Given the description of an element on the screen output the (x, y) to click on. 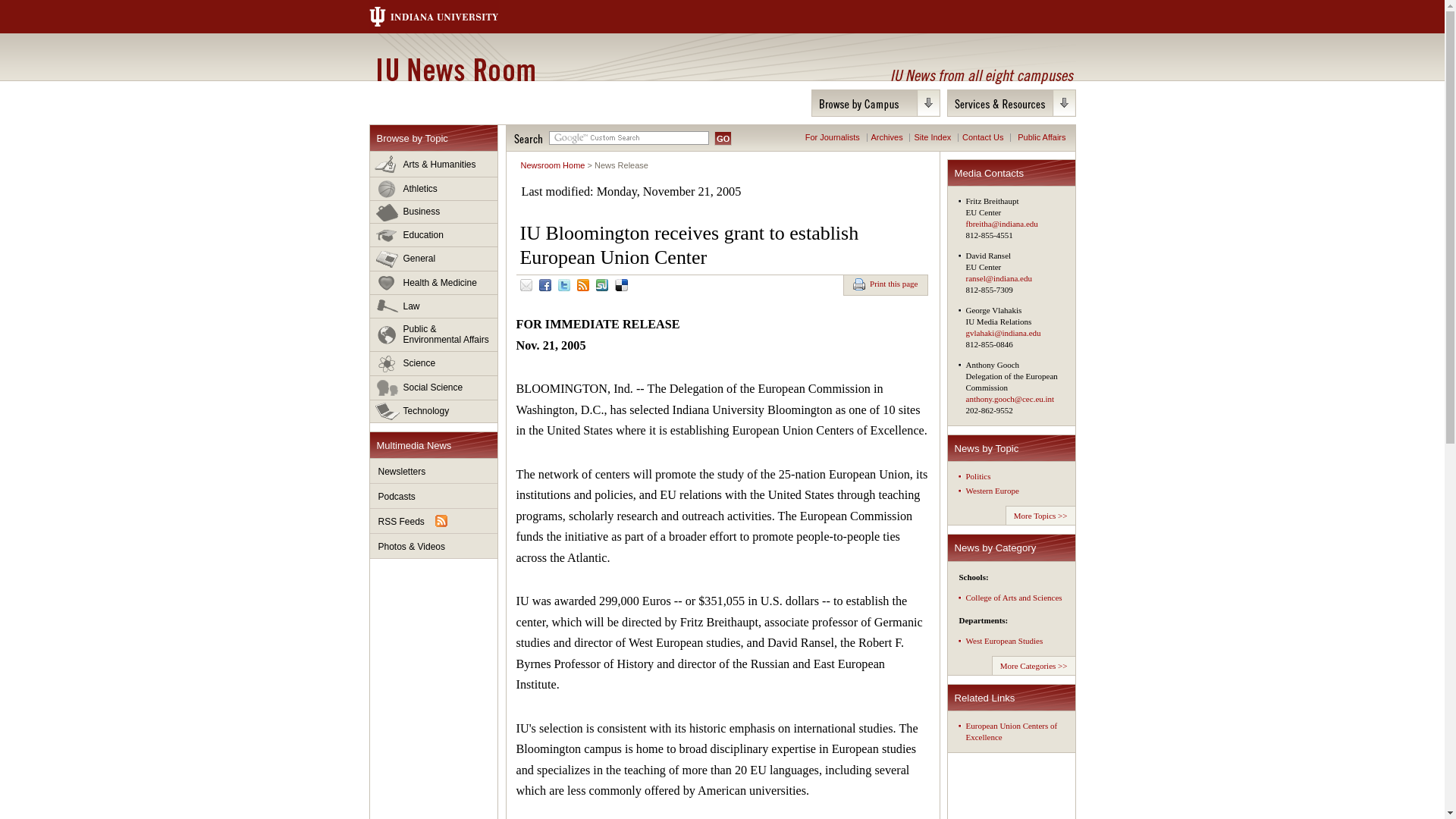
Law (433, 306)
Business (433, 211)
RSS Feeds (433, 520)
Athletics (433, 188)
Technology (433, 411)
General (433, 259)
IU News Room (455, 69)
Education (433, 235)
Social Science (433, 387)
General (433, 259)
